Given the description of an element on the screen output the (x, y) to click on. 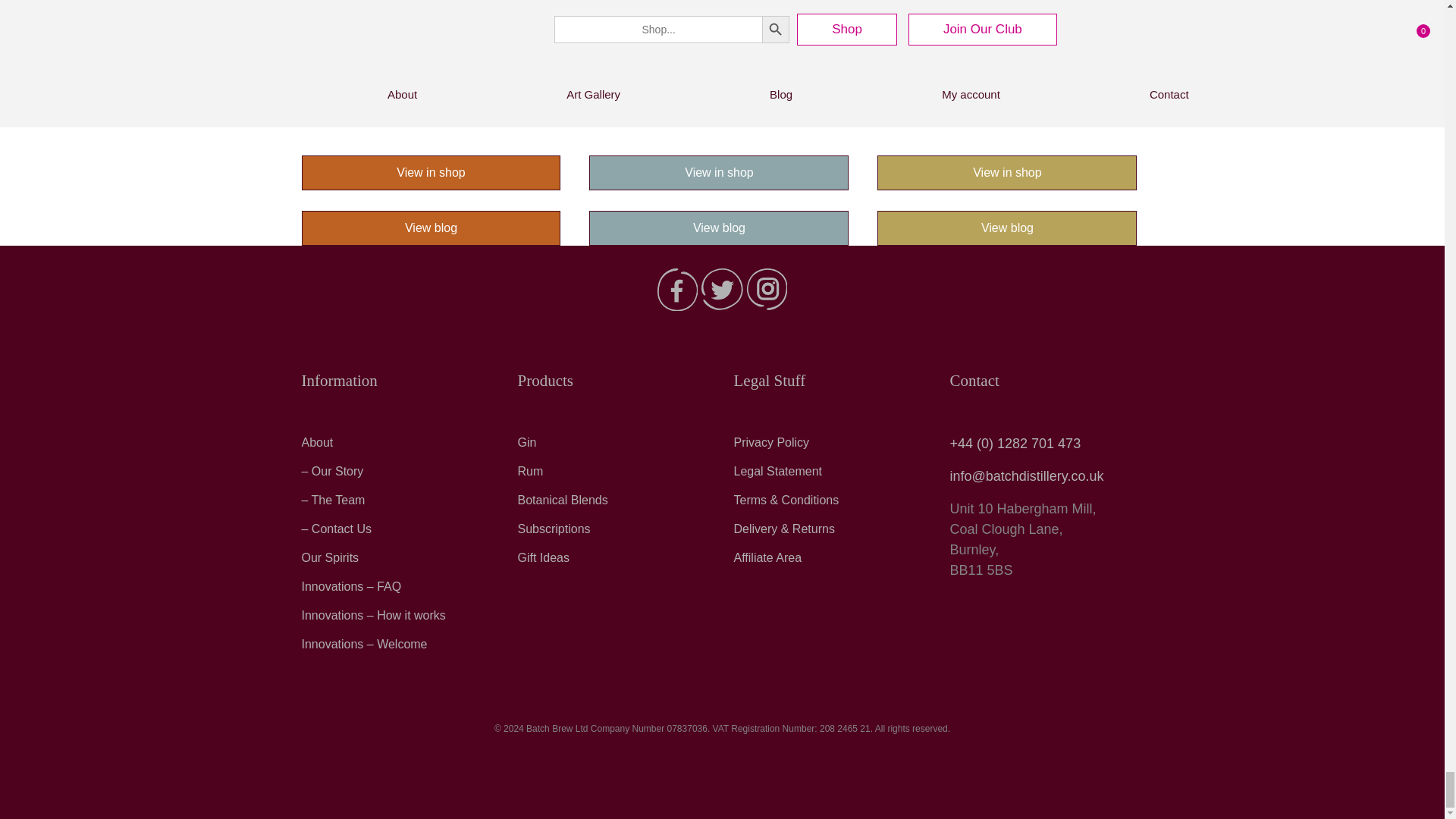
icon-instagram (766, 288)
icon-twitter (721, 288)
icon-facebook (677, 289)
